Given the description of an element on the screen output the (x, y) to click on. 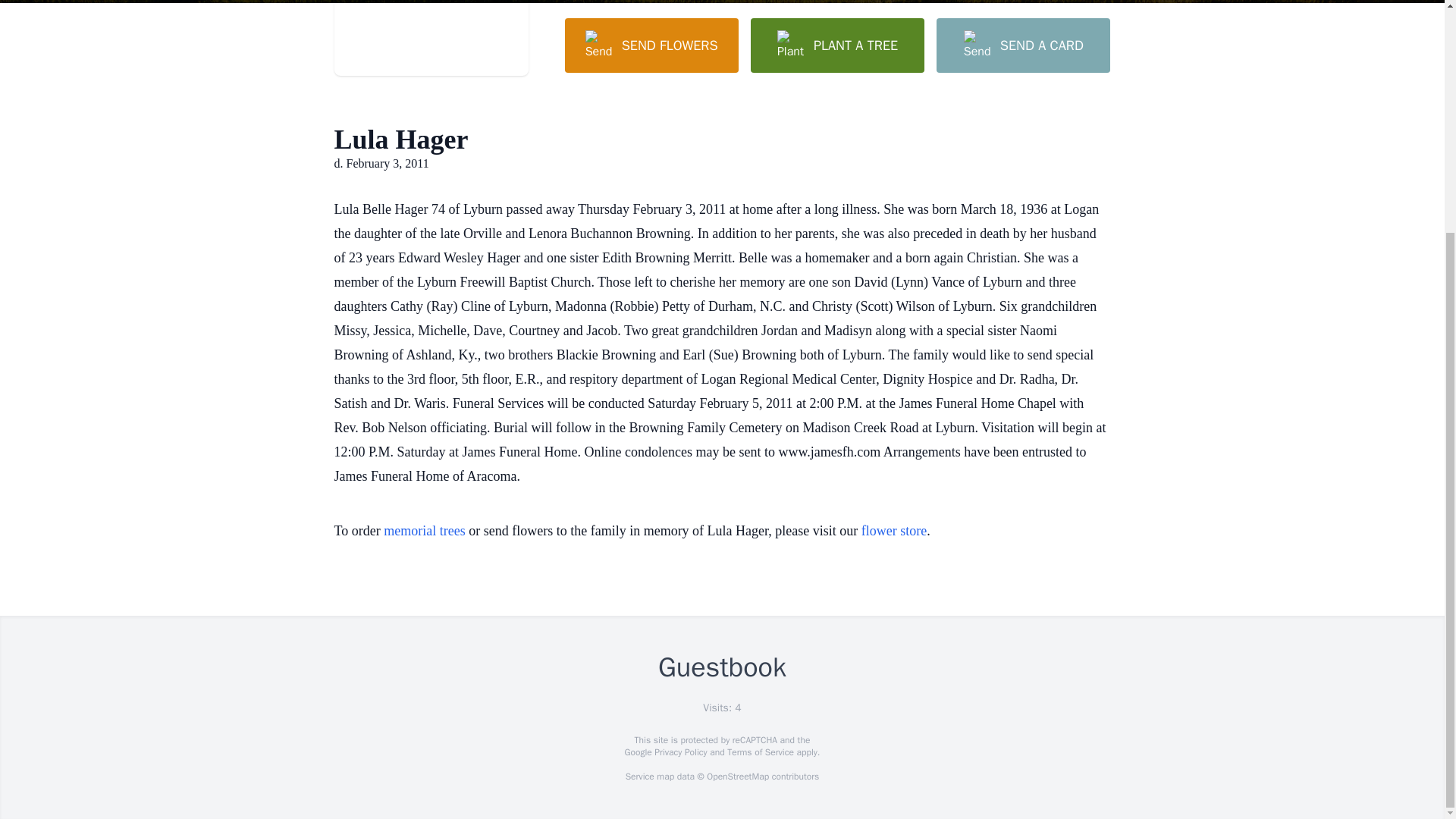
memorial trees (424, 530)
SEND FLOWERS (651, 45)
flower store (893, 530)
SEND A CARD (1022, 45)
Privacy Policy (679, 752)
PLANT A TREE (837, 45)
Terms of Service (759, 752)
OpenStreetMap (737, 776)
